Given the description of an element on the screen output the (x, y) to click on. 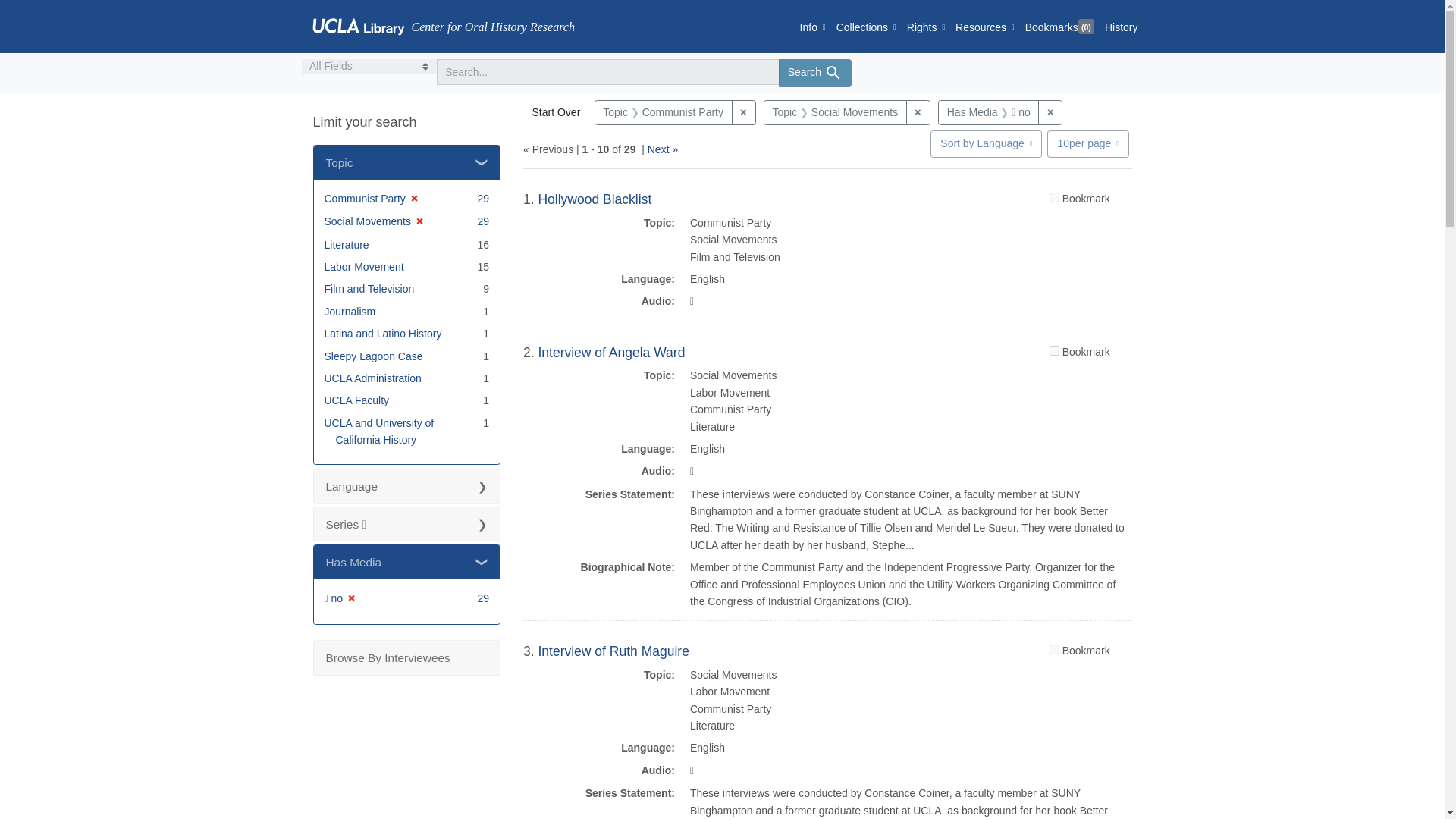
Sleepy Lagoon Case (373, 356)
Literature (346, 244)
Labor Movement (364, 266)
Series (407, 523)
UCLA Administration (373, 378)
Collections (866, 25)
Has Media (407, 562)
Topic (407, 162)
UCLA Faculty (357, 399)
UCLA and University of California History (378, 430)
Targeted search options (368, 66)
Browse By Interviewees (407, 657)
Film and Television (369, 288)
Rights (925, 25)
Search Search (814, 72)
